Given the description of an element on the screen output the (x, y) to click on. 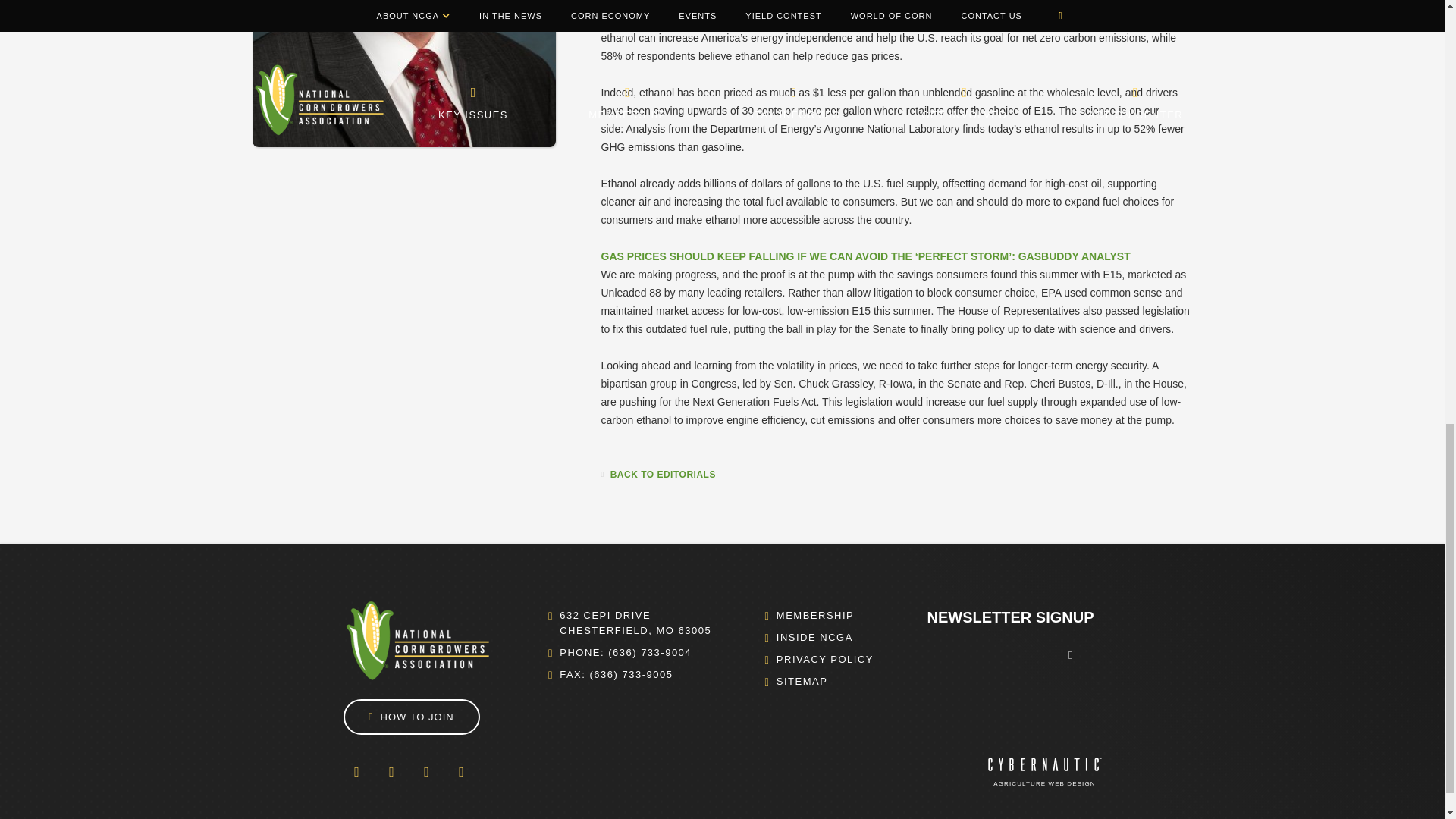
Twitter (390, 771)
Flickr (425, 771)
Facebook (355, 771)
Soundcloud (460, 771)
